Given the description of an element on the screen output the (x, y) to click on. 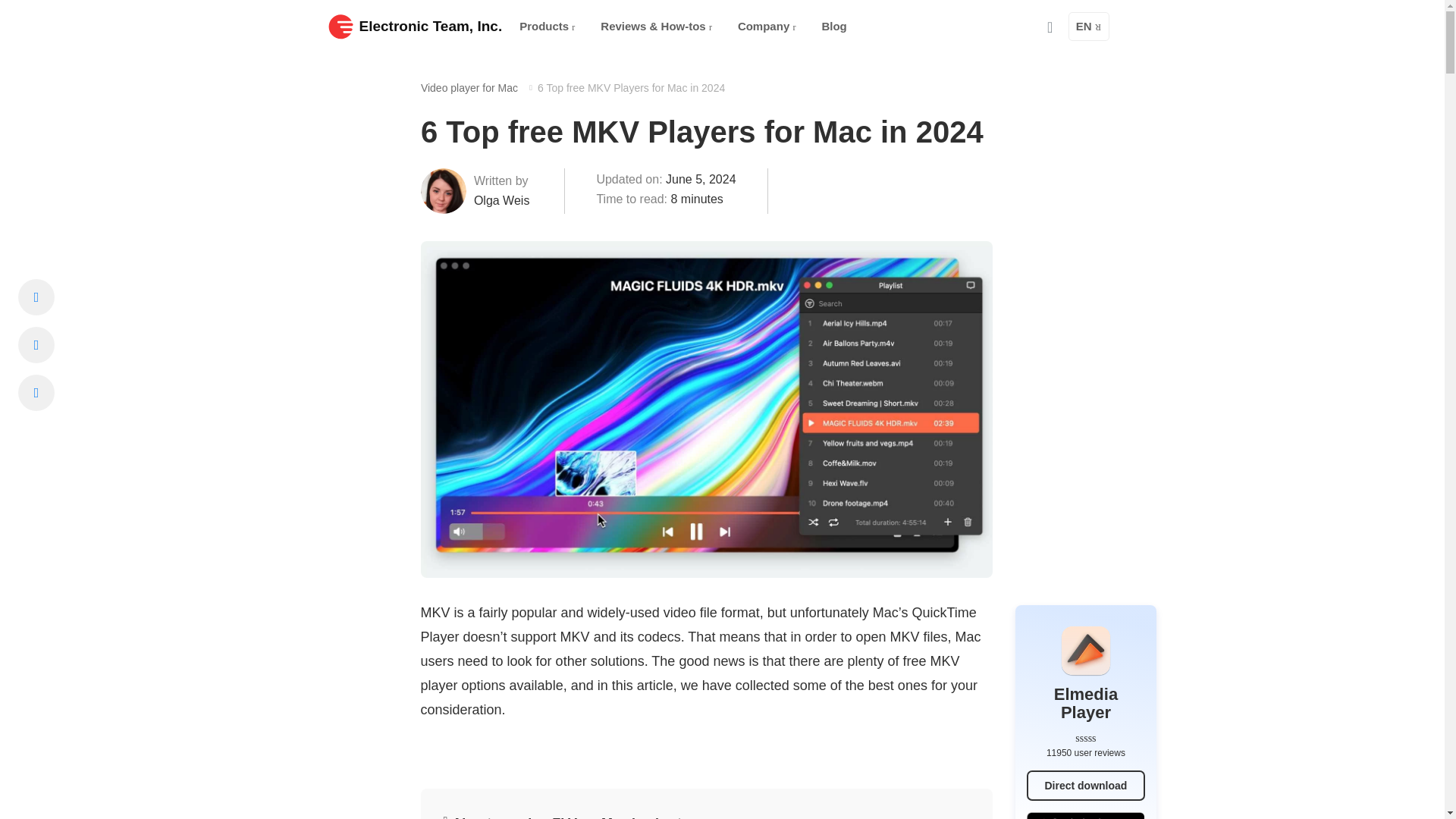
Company (767, 26)
Electronic Team, Inc. (414, 25)
Products (547, 26)
Blog (834, 26)
EN (1088, 26)
Blog (834, 26)
